Given the description of an element on the screen output the (x, y) to click on. 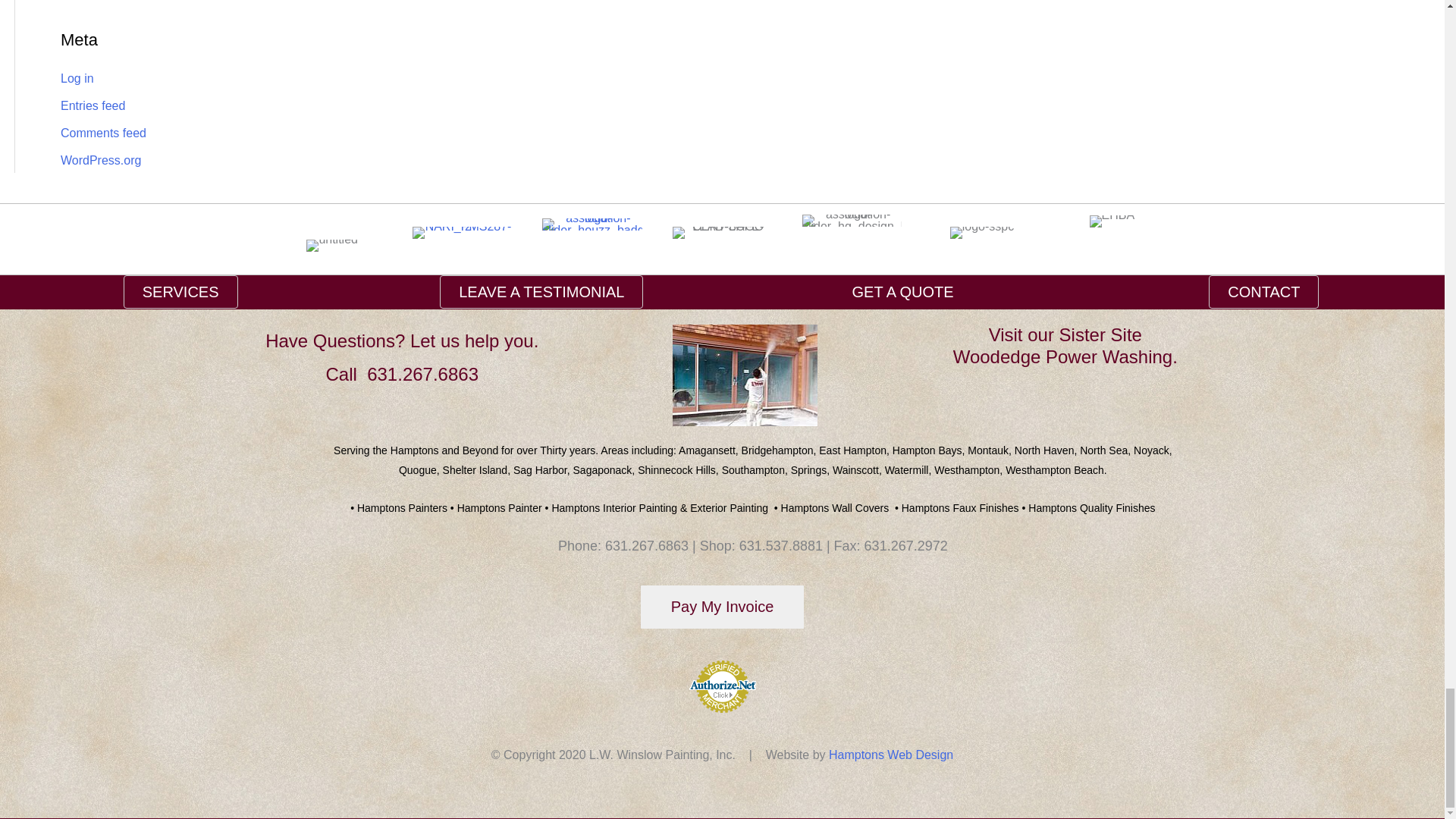
Pay My Invoice (722, 606)
logo-sspc (981, 232)
LEAD-SAFE-CERT-LOGO (721, 232)
untitled (331, 245)
